Given the description of an element on the screen output the (x, y) to click on. 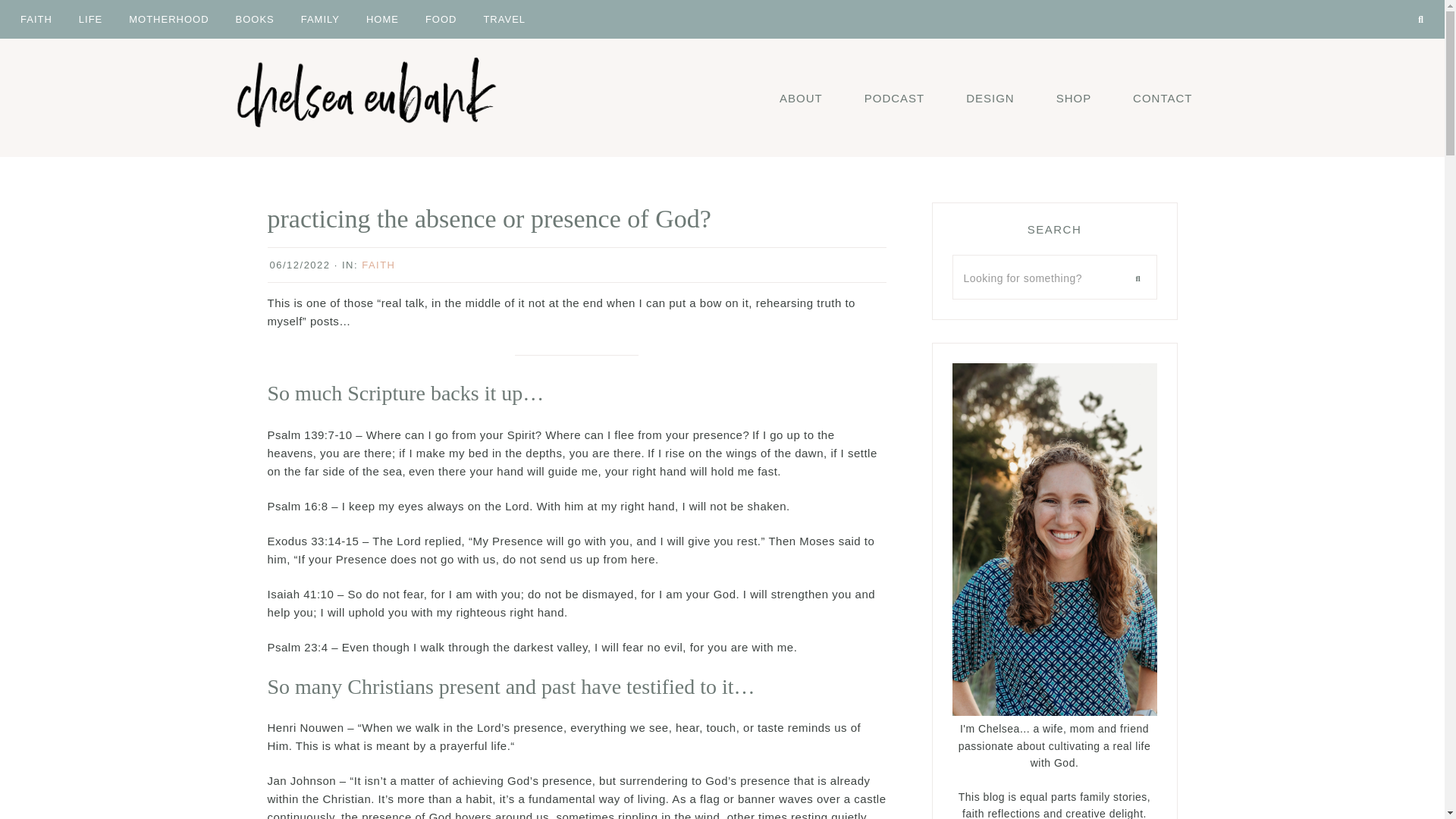
ABOUT (800, 96)
HOME (382, 18)
Email (1372, 3)
PODCAST (894, 96)
FAMILY (319, 18)
FOOD (440, 18)
BOOKS (254, 18)
TRAVEL (504, 18)
DESIGN (990, 96)
MOTHERHOOD (168, 18)
